Given the description of an element on the screen output the (x, y) to click on. 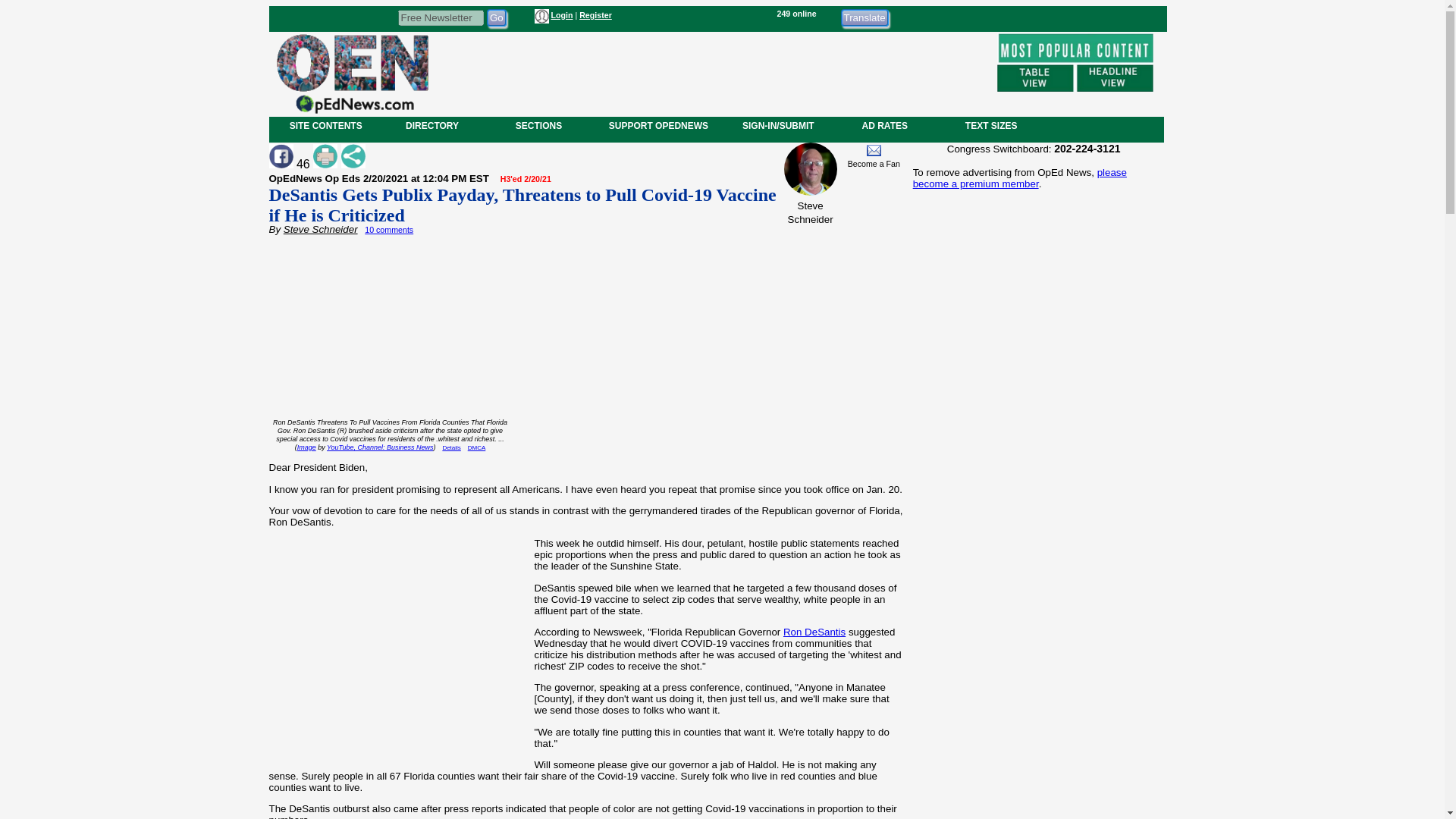
YouTube, Channel: Business News (379, 447)
Login (561, 14)
DIRECTORY (431, 125)
10 comments (389, 229)
Share on Facebook (279, 156)
DMCA (476, 447)
Go (496, 17)
Image (306, 447)
Details (451, 447)
Ron DeSantis (814, 632)
